Given the description of an element on the screen output the (x, y) to click on. 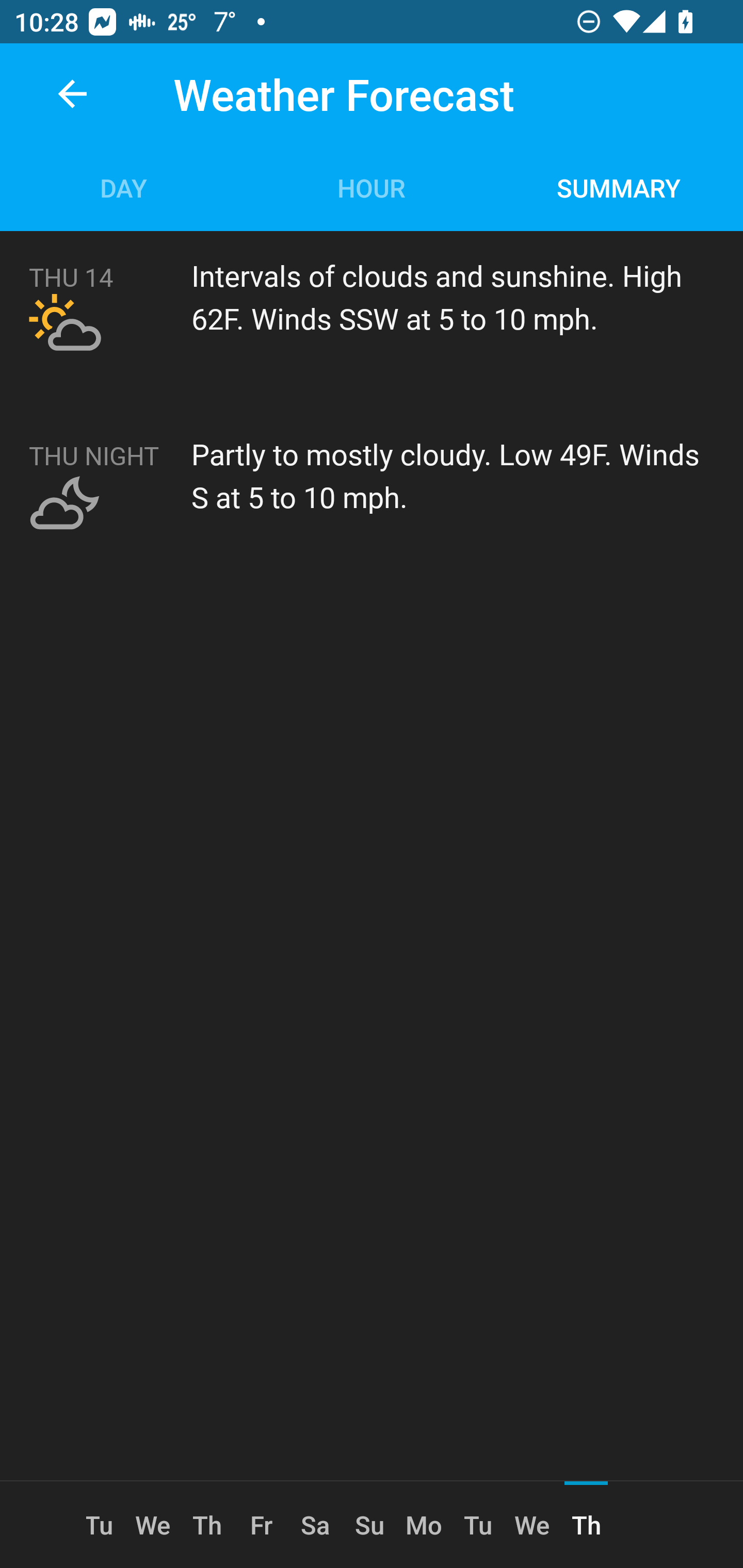
back (71, 93)
Day Tab DAY (123, 187)
Hour Tab HOUR (371, 187)
Tu (105, 1524)
We (152, 1524)
Th (206, 1524)
Fr (261, 1524)
Sa (315, 1524)
Su (369, 1524)
Mo (423, 1524)
Tu (478, 1524)
We (532, 1524)
